Given the description of an element on the screen output the (x, y) to click on. 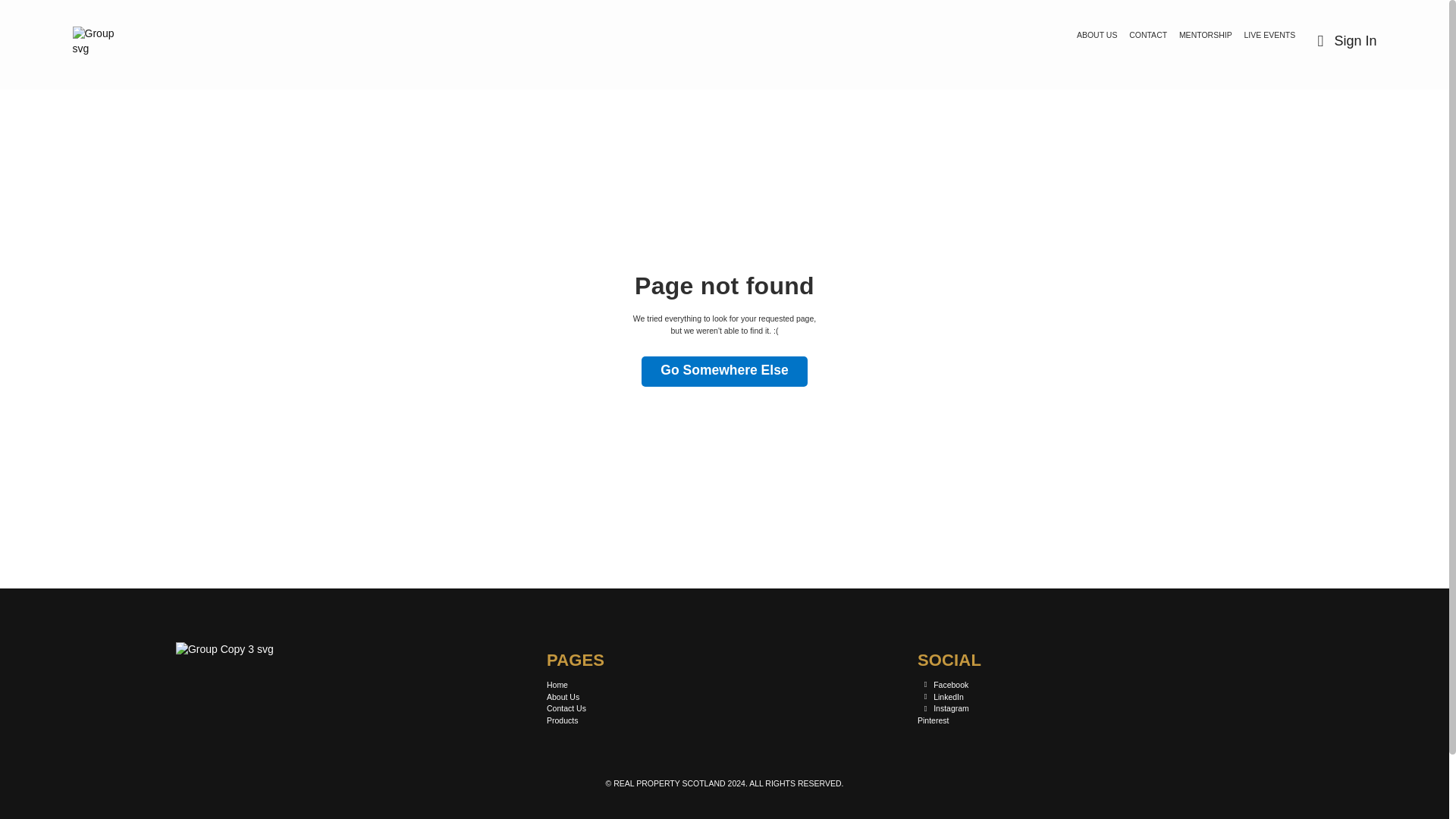
Home (557, 685)
Pinterest (933, 720)
LIVE EVENTS (1269, 35)
LinkedIn (940, 697)
Go Somewhere Else (724, 371)
MENTORSHIP (1205, 35)
Instagram (943, 708)
CONTACT (1148, 35)
Sign In (1342, 41)
ABOUT US (1096, 35)
